Given the description of an element on the screen output the (x, y) to click on. 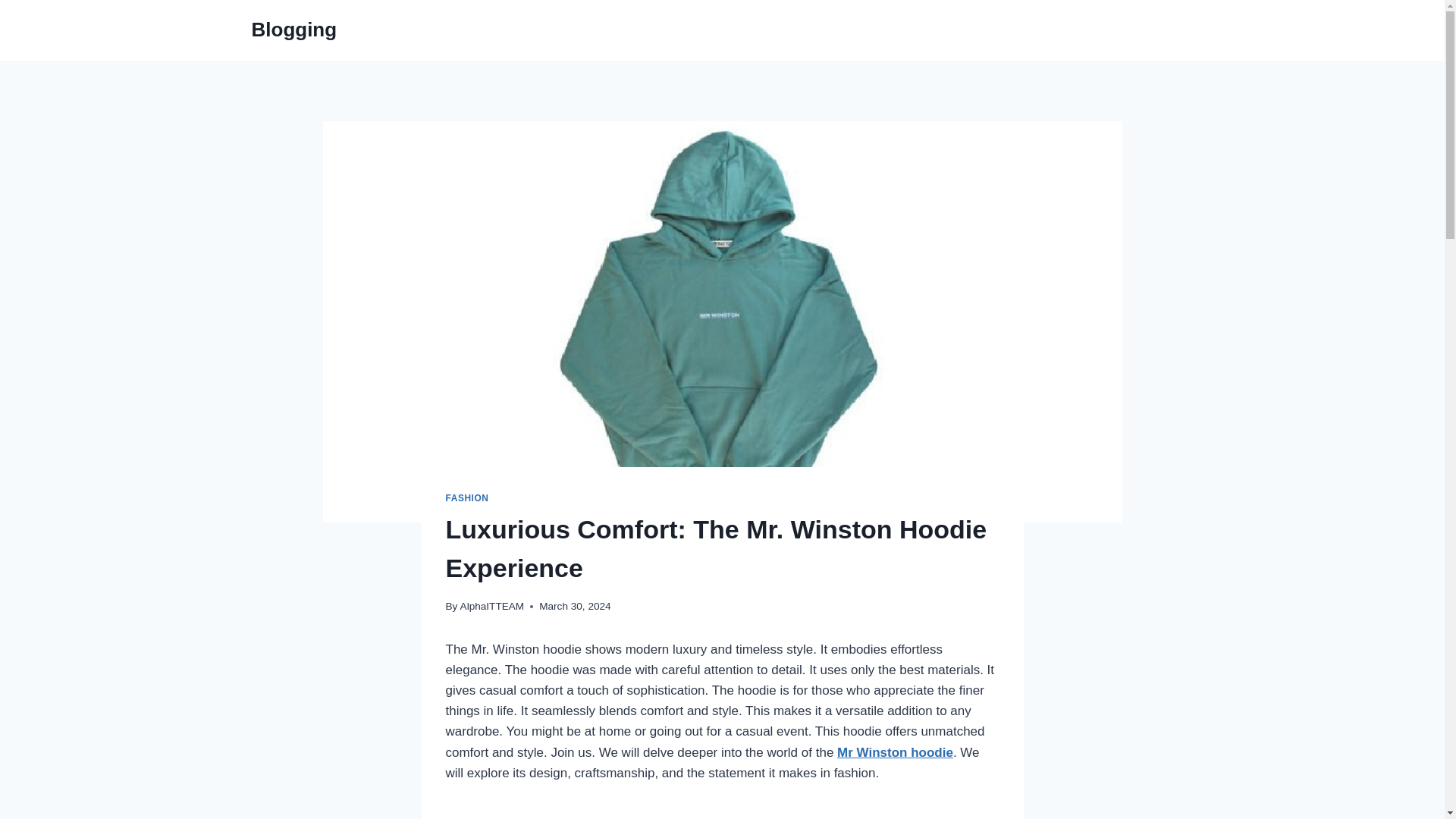
AlphaITTEAM (492, 605)
FASHION (467, 498)
Mr Winston hoodie (895, 752)
Blogging (294, 29)
